Given the description of an element on the screen output the (x, y) to click on. 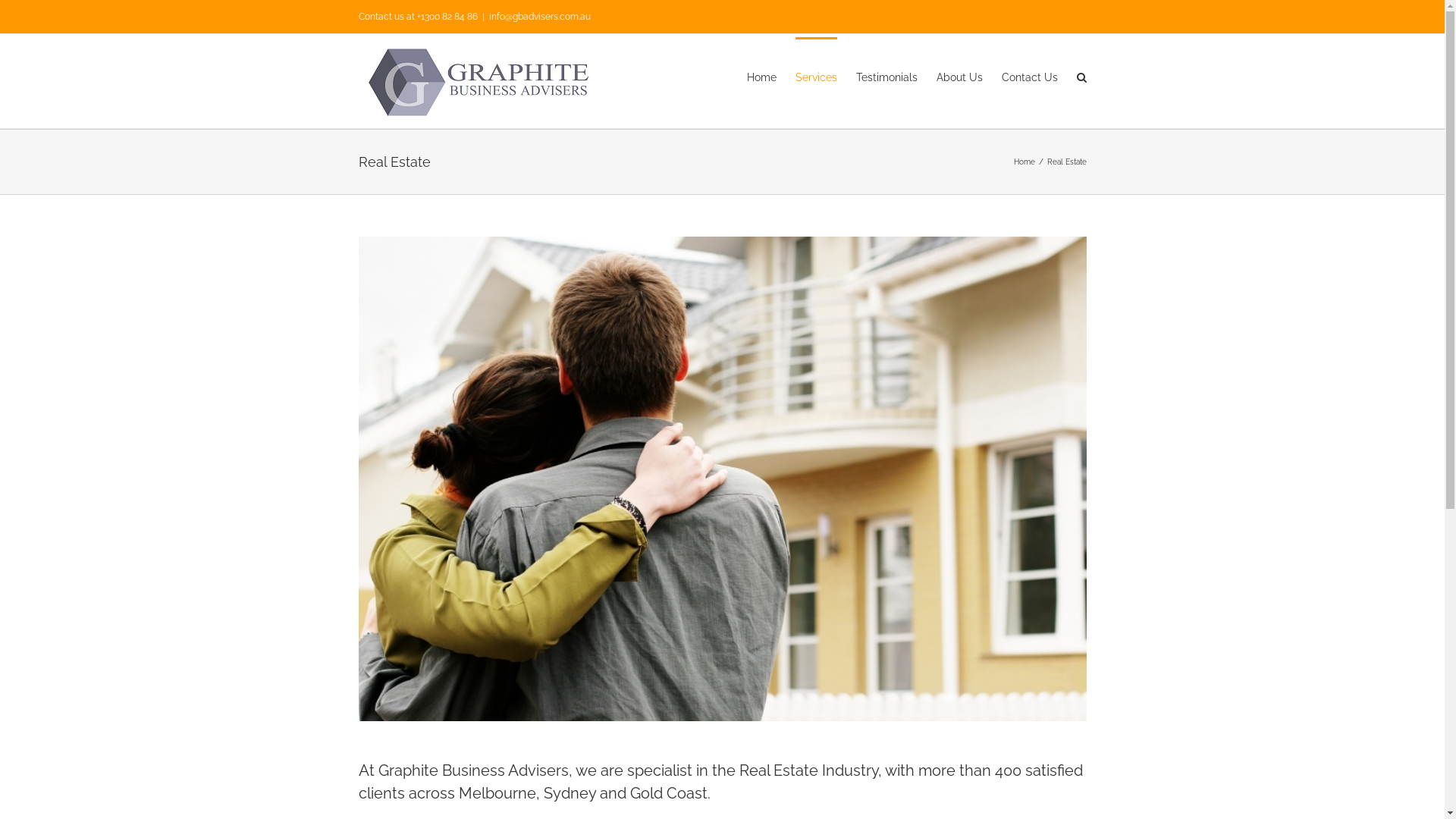
About Us Element type: text (958, 76)
Services Element type: text (815, 76)
Contact Us Element type: text (1029, 76)
Home Element type: text (1023, 161)
Testimonials Element type: text (885, 76)
Home Element type: text (760, 76)
info@gbadvisers.com.au Element type: text (538, 16)
